Given the description of an element on the screen output the (x, y) to click on. 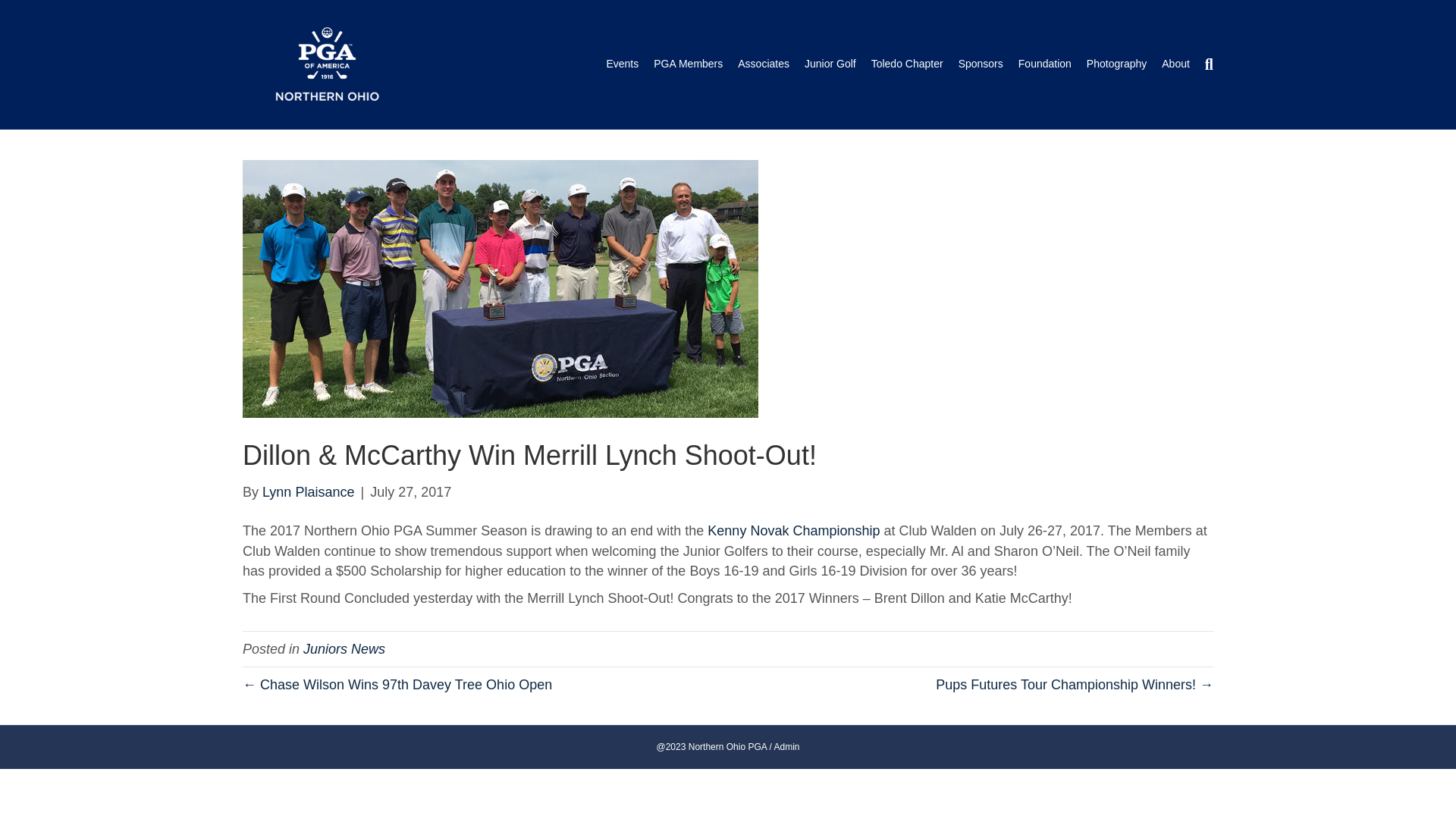
Juniors News (343, 648)
Toledo Chapter (906, 64)
Sponsors (980, 64)
Associates (763, 64)
Kenny Novak Championship (793, 530)
Junior Golf (829, 64)
Foundation (1044, 64)
Admin (786, 747)
Events (622, 64)
About (1175, 64)
PGA Members (688, 64)
Photography (1116, 64)
Lynn Plaisance (307, 491)
